Given the description of an element on the screen output the (x, y) to click on. 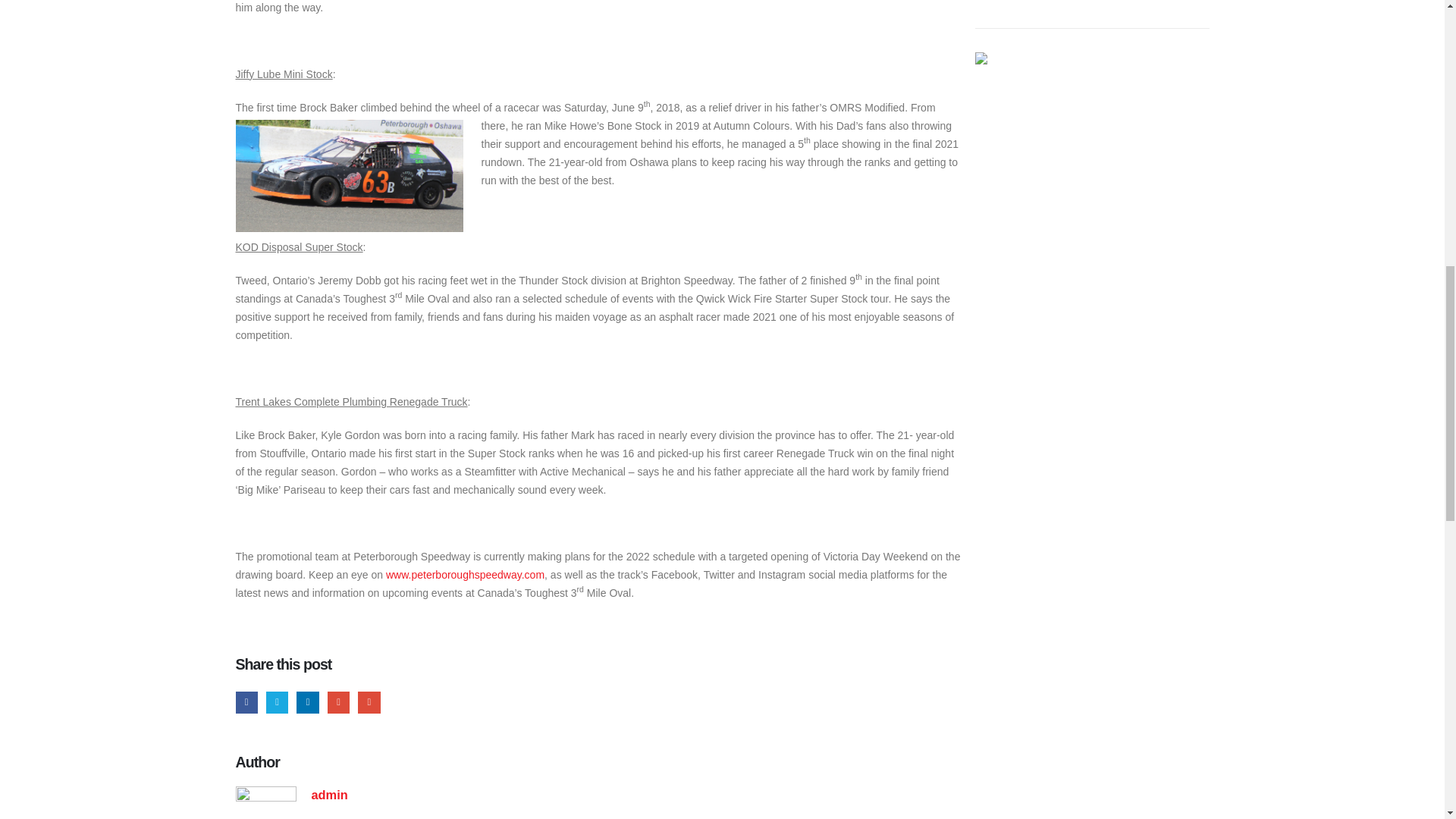
Twitter (277, 702)
Email (369, 702)
Facebook (245, 702)
Posts by admin (329, 794)
LinkedIn (307, 702)
